Given the description of an element on the screen output the (x, y) to click on. 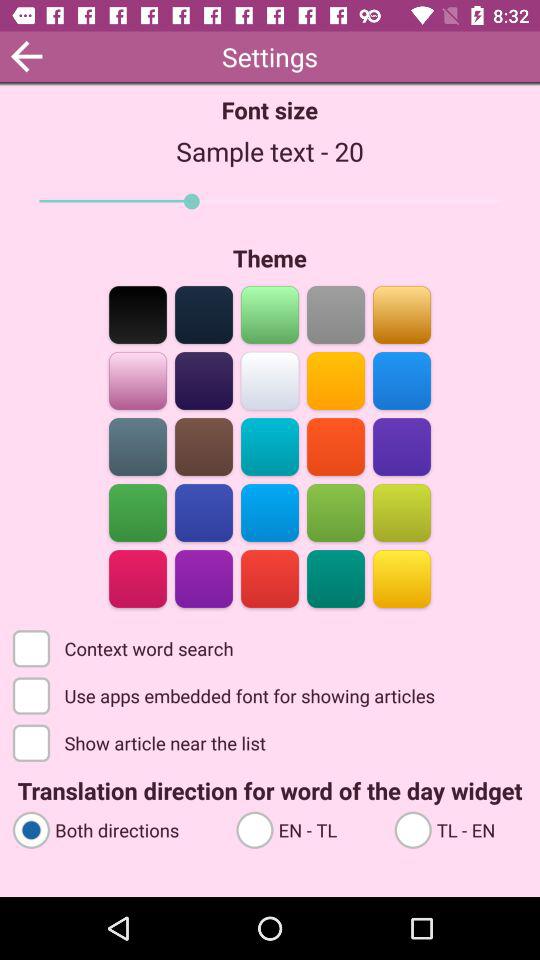
white color theme (269, 379)
